Given the description of an element on the screen output the (x, y) to click on. 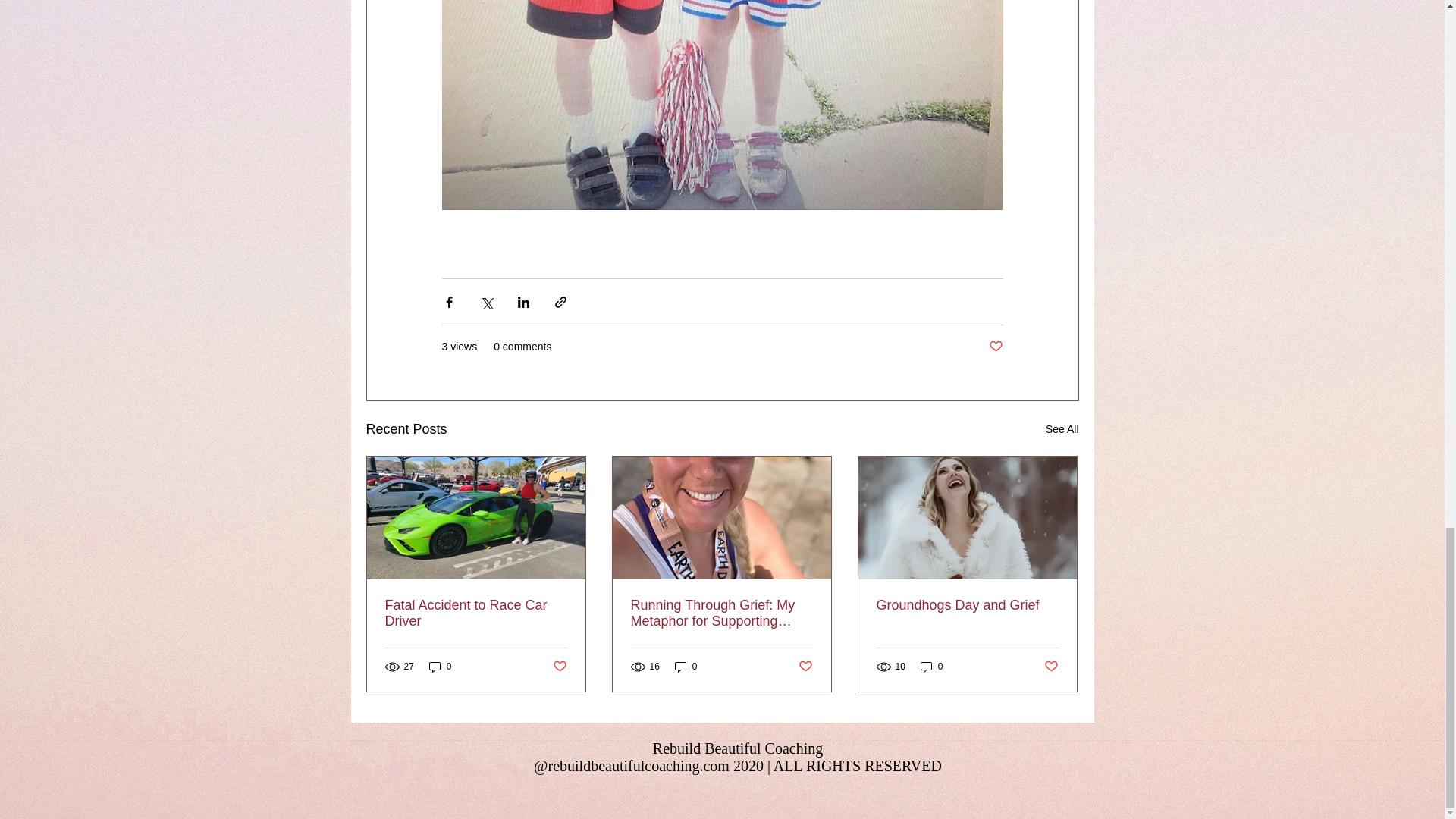
Running Through Grief: My Metaphor for Supporting Women (721, 613)
Post not marked as liked (1050, 666)
Post not marked as liked (804, 666)
0 (440, 667)
0 (685, 667)
Fatal Accident to Race Car Driver (476, 613)
Groundhogs Day and Grief (967, 605)
See All (1061, 429)
0 (931, 667)
Post not marked as liked (995, 346)
Post not marked as liked (558, 666)
